Given the description of an element on the screen output the (x, y) to click on. 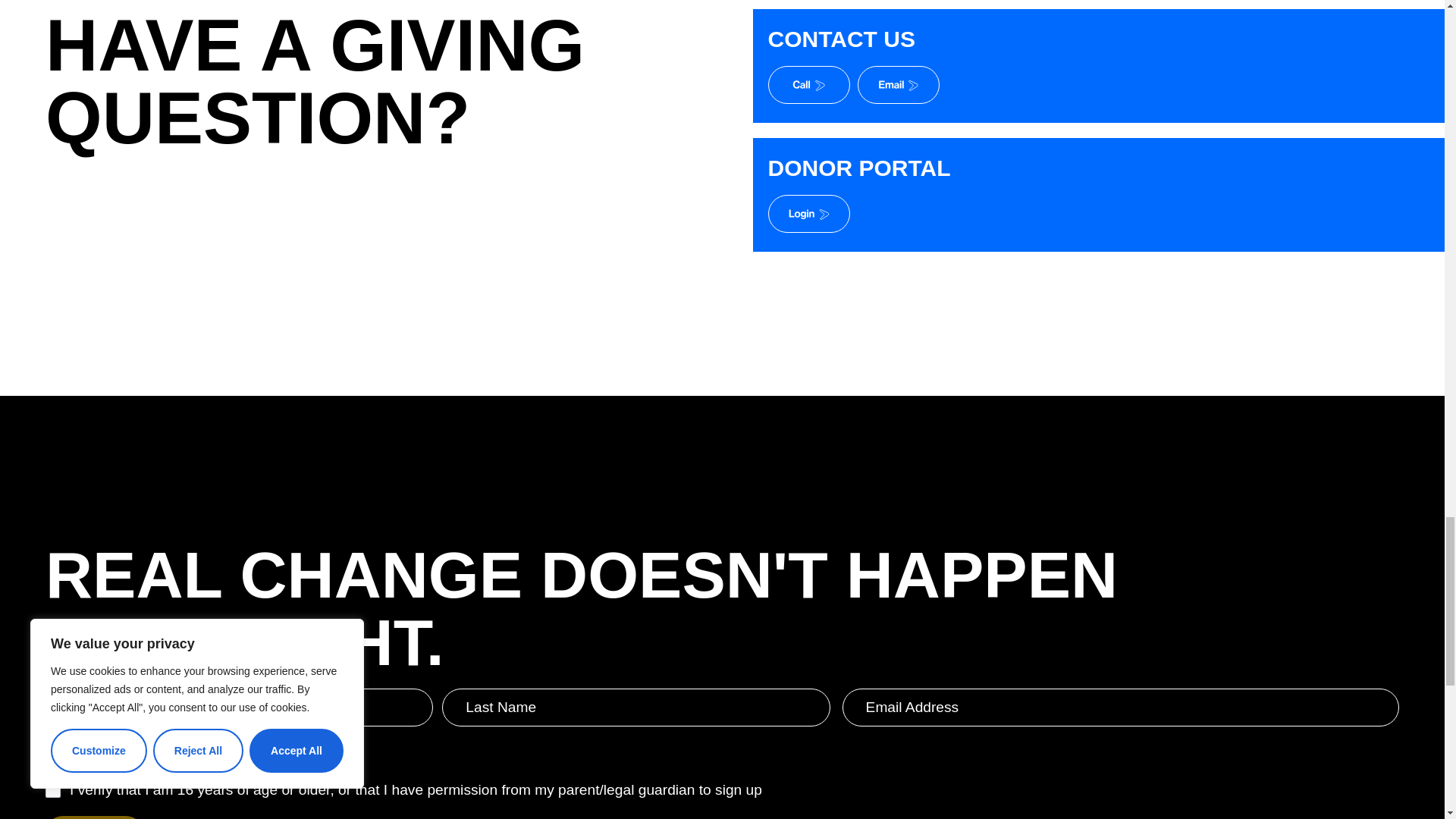
1 (53, 789)
Submit (93, 817)
